Given the description of an element on the screen output the (x, y) to click on. 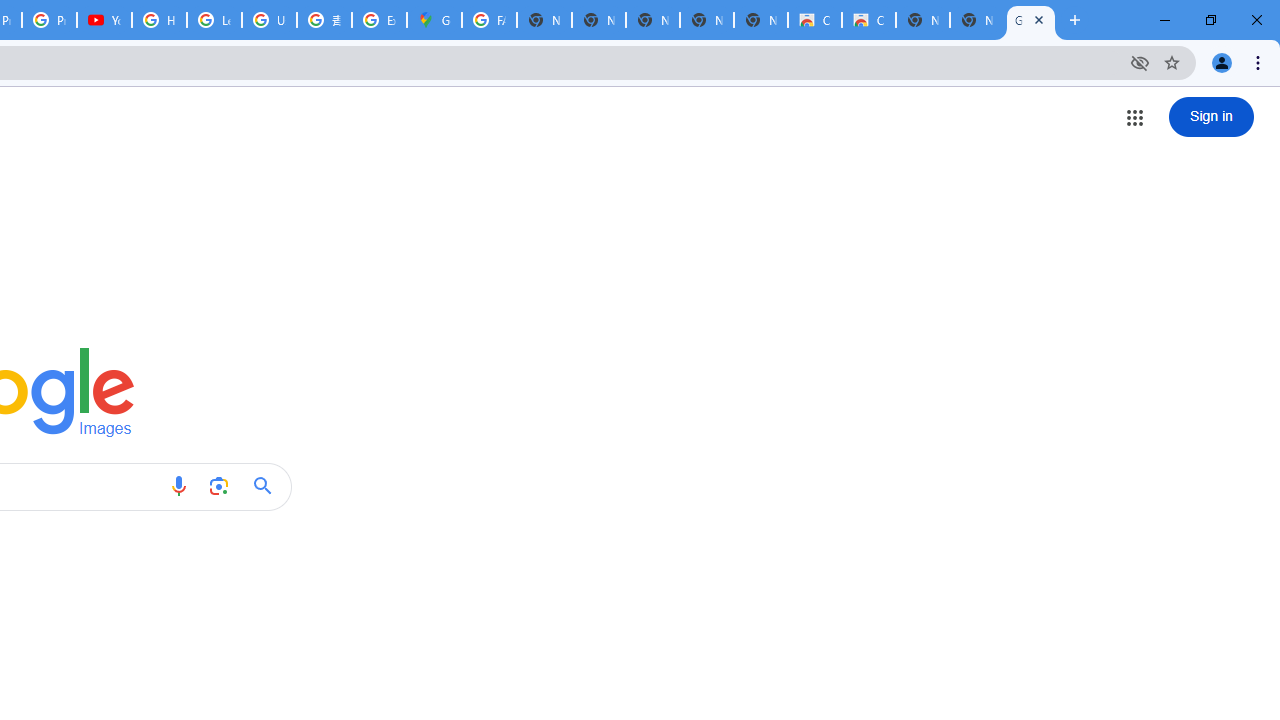
Classic Blue - Chrome Web Store (815, 20)
Google Search (268, 485)
Explore new street-level details - Google Maps Help (379, 20)
How Chrome protects your passwords - Google Chrome Help (158, 20)
